Given the description of an element on the screen output the (x, y) to click on. 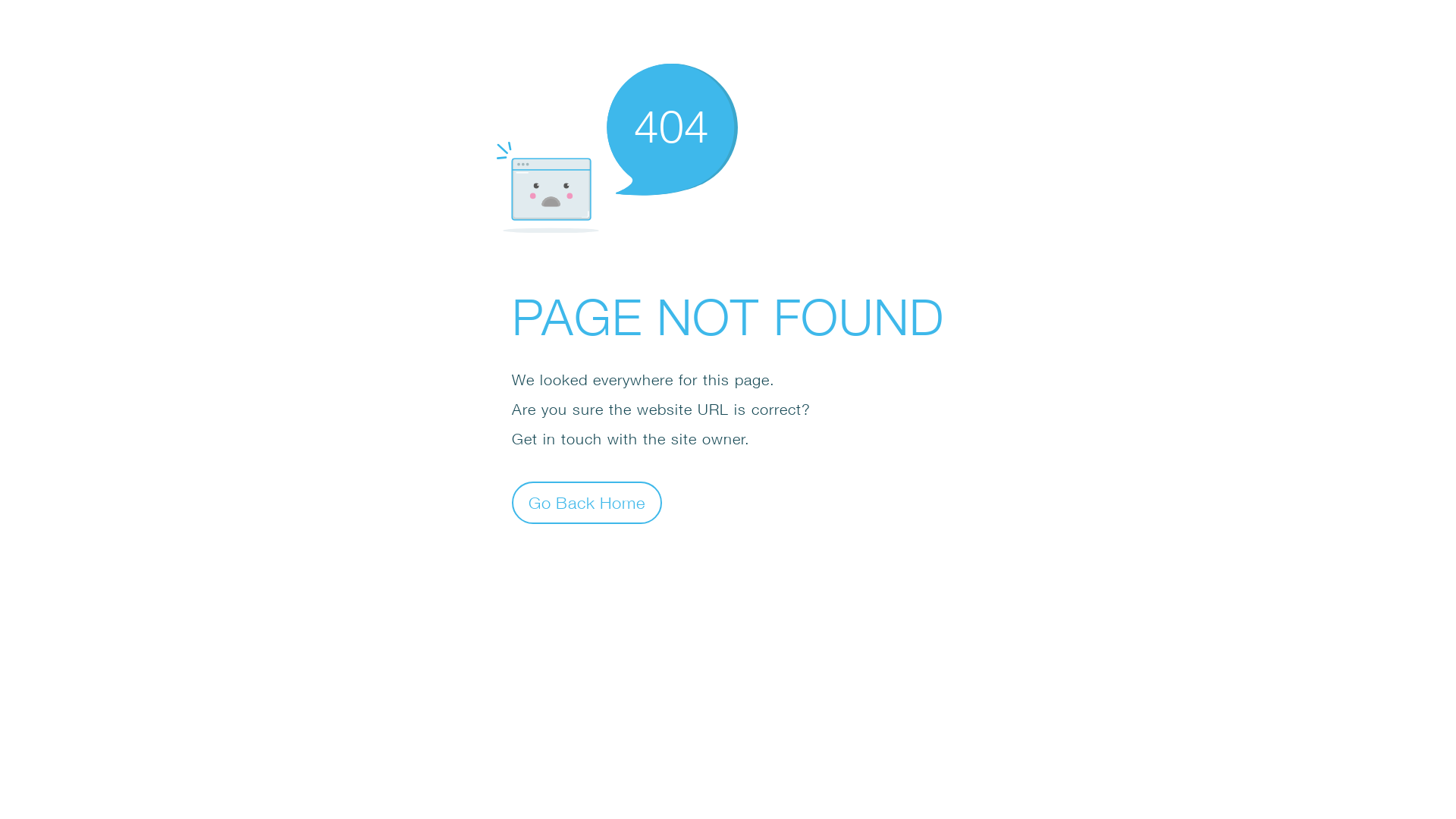
Go Back Home Element type: text (586, 502)
